Given the description of an element on the screen output the (x, y) to click on. 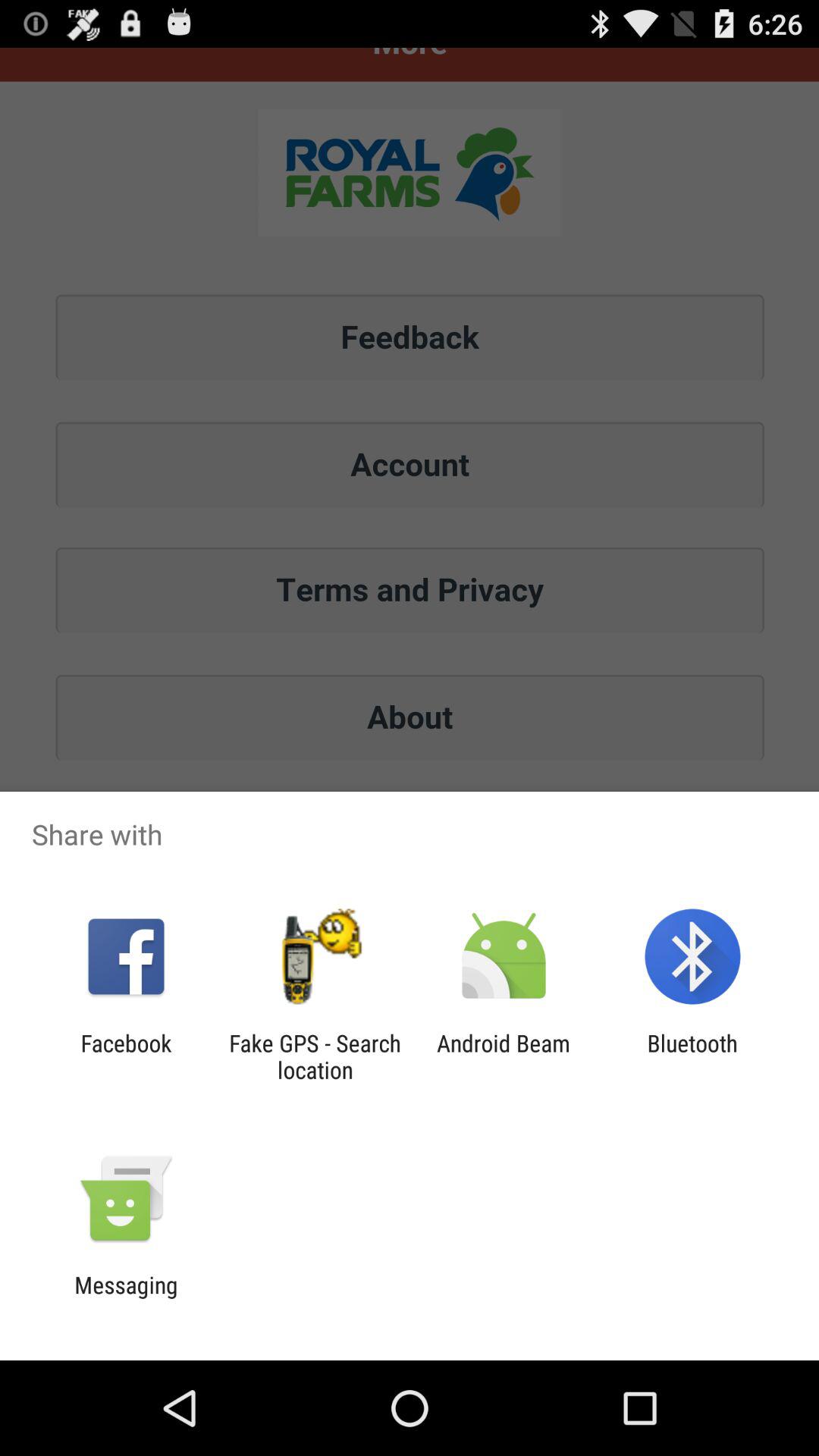
select icon to the left of bluetooth app (503, 1056)
